Given the description of an element on the screen output the (x, y) to click on. 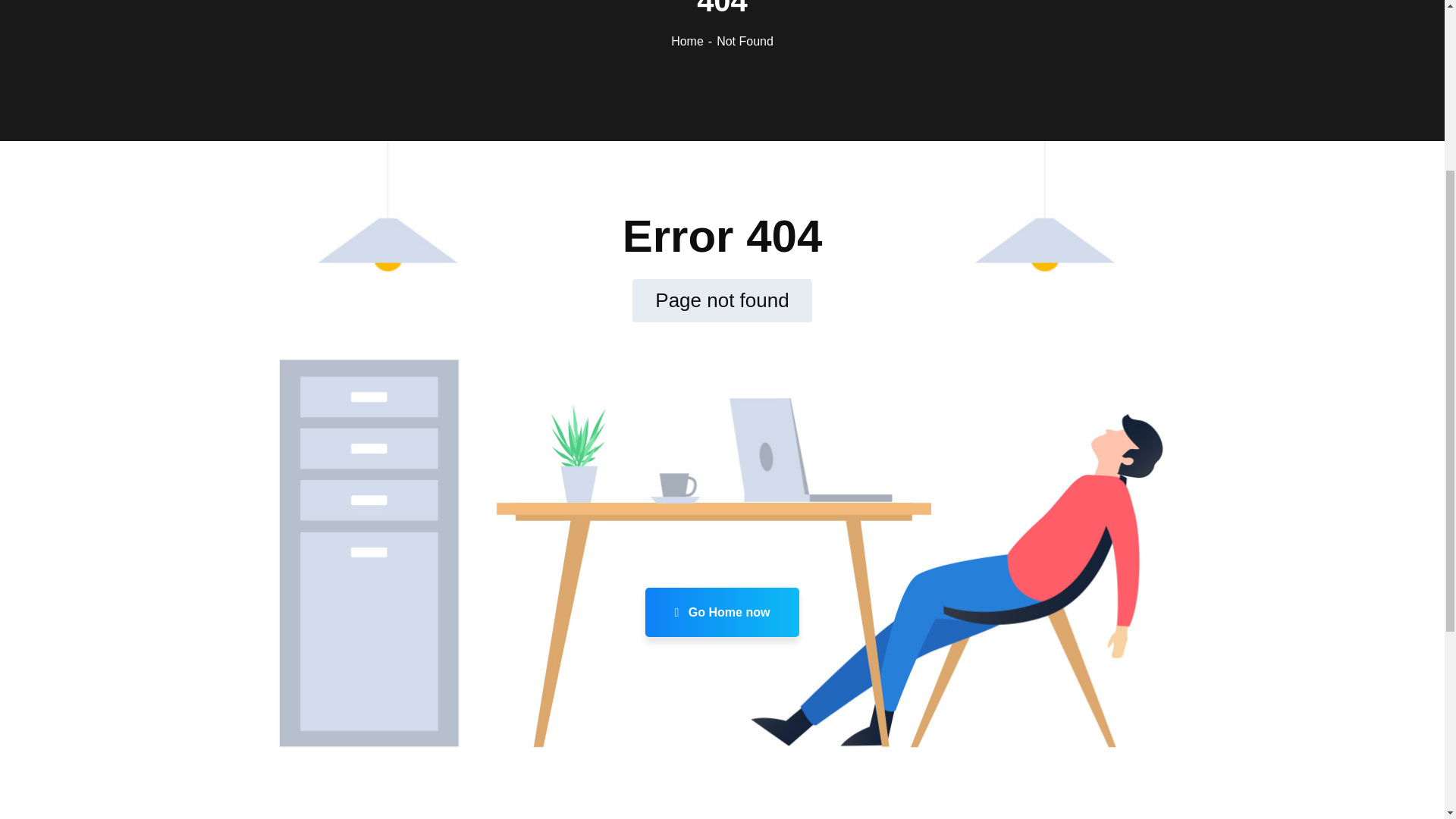
Apply Now (525, 440)
Testimonials (527, 408)
Go Home now (722, 612)
Home (513, 345)
About Us (634, 345)
EBRANDING (871, 512)
Home (693, 41)
Our Services (528, 377)
Contact Us (638, 440)
Destinations (640, 377)
